Given the description of an element on the screen output the (x, y) to click on. 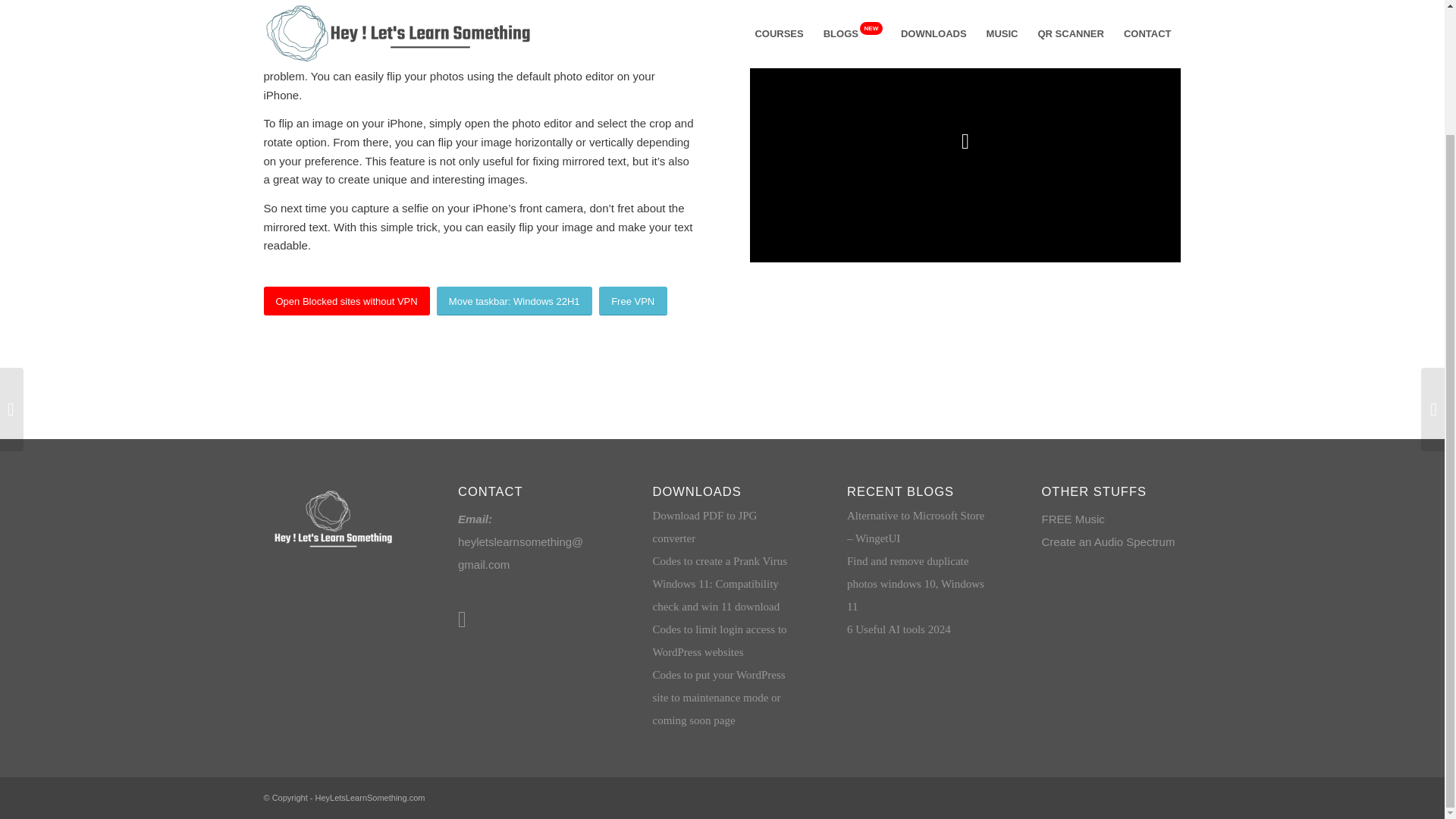
FREE Music (1073, 518)
Download PDF to JPG converter (704, 526)
Open Blocked sites without VPN (346, 301)
Free VPN (632, 301)
Find and remove duplicate photos windows 10, Windows 11 (915, 583)
Codes to limit login access to WordPress websites (719, 640)
Permanent Link: 6 Useful AI tools 2024 (898, 629)
Permanent Link: Codes to create a Prank Virus (719, 561)
Create an Audio Spectrum (1108, 541)
Move taskbar: Windows 22H1 (514, 301)
Permanent Link: Download PDF to JPG converter (704, 526)
